Given the description of an element on the screen output the (x, y) to click on. 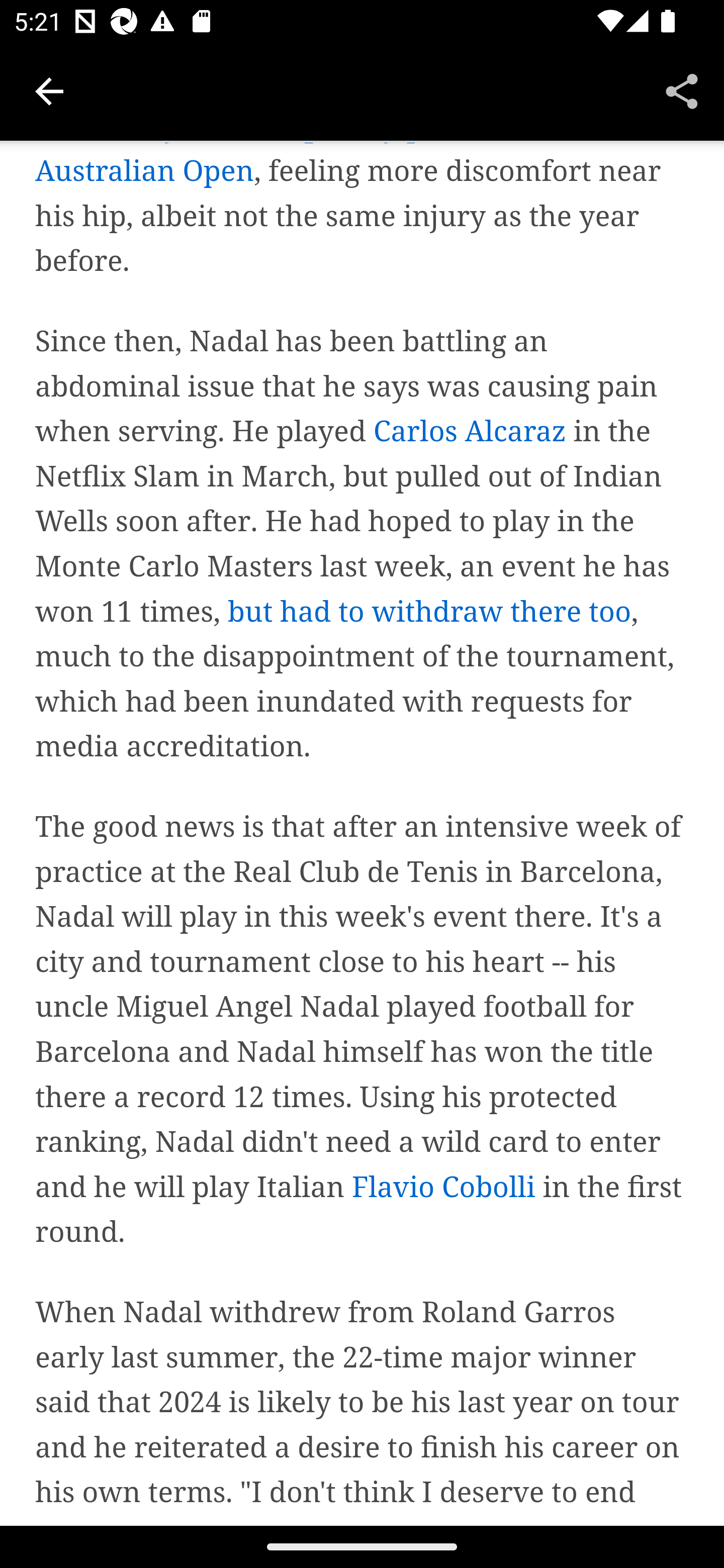
Navigate up (49, 91)
Share (681, 90)
